Given the description of an element on the screen output the (x, y) to click on. 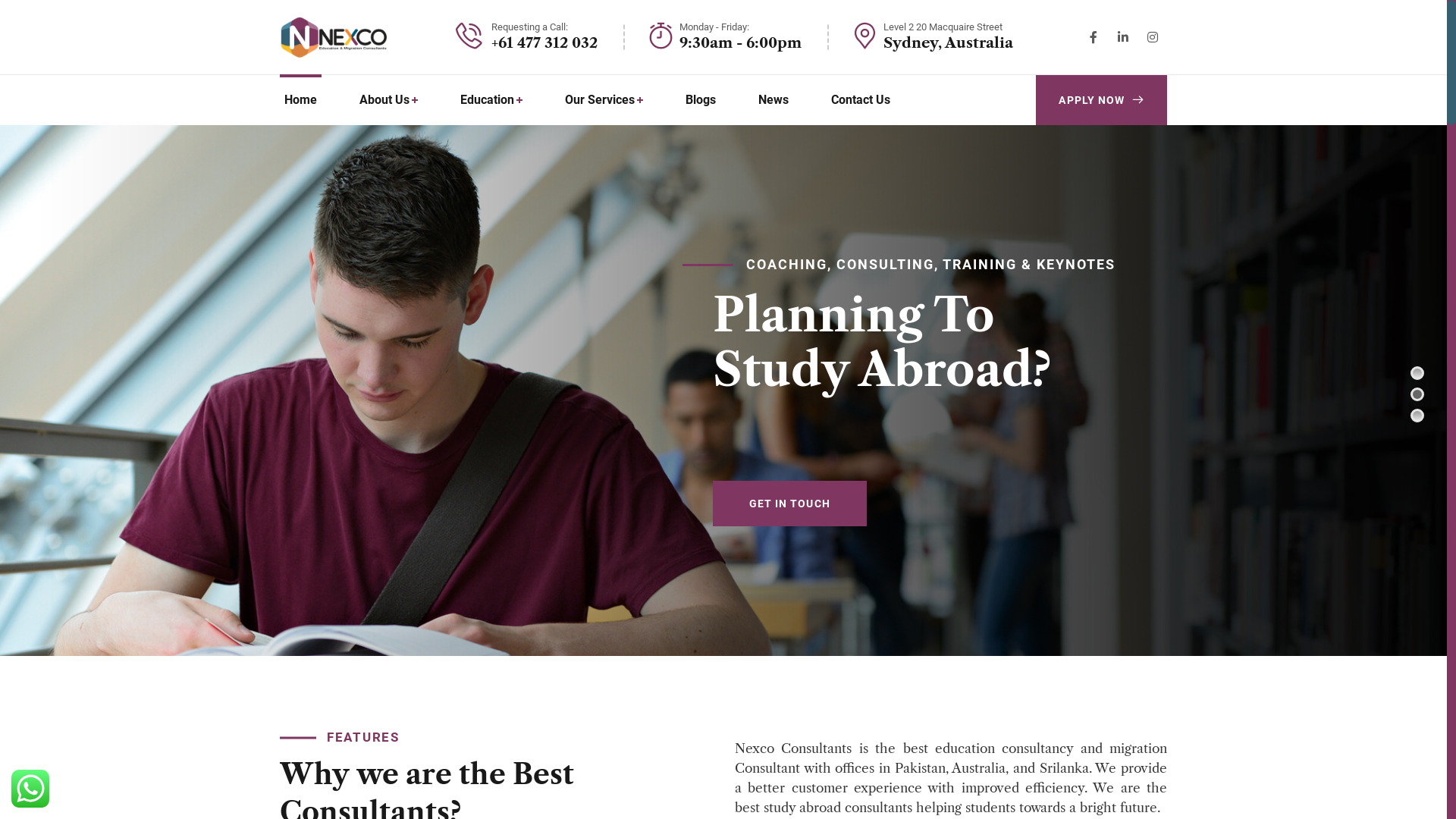
APPLY NOW Element type: text (1101, 100)
GET IN TOUCH Element type: text (811, 530)
Blogs Element type: text (700, 100)
Nexco Consultancy Element type: hover (334, 35)
About Us Element type: text (388, 100)
News Element type: text (773, 100)
Contact Us Element type: text (860, 100)
Home Element type: text (300, 100)
Education Element type: text (491, 100)
Our Services Element type: text (603, 100)
